Given the description of an element on the screen output the (x, y) to click on. 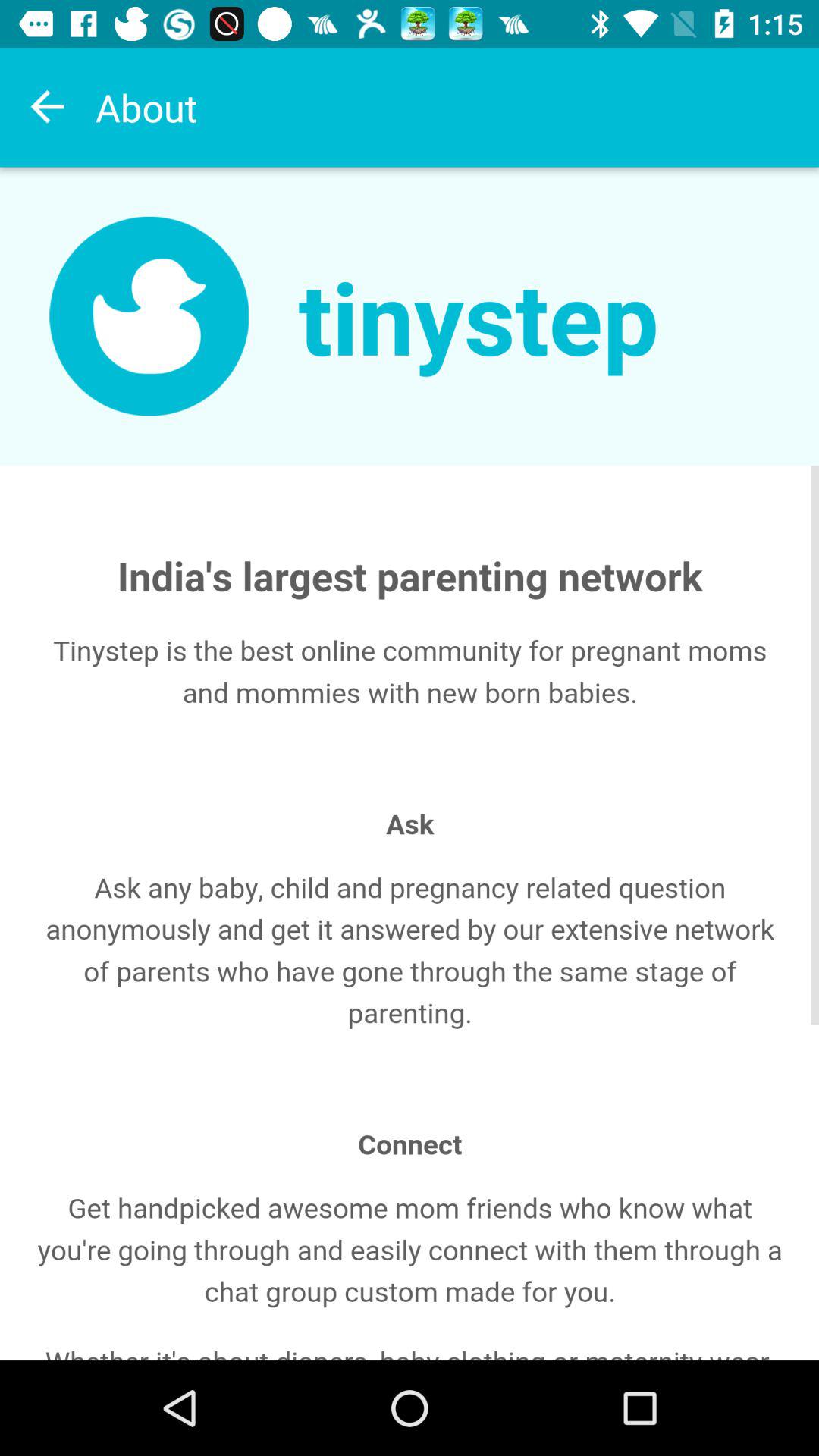
go back go to previous (47, 107)
